Given the description of an element on the screen output the (x, y) to click on. 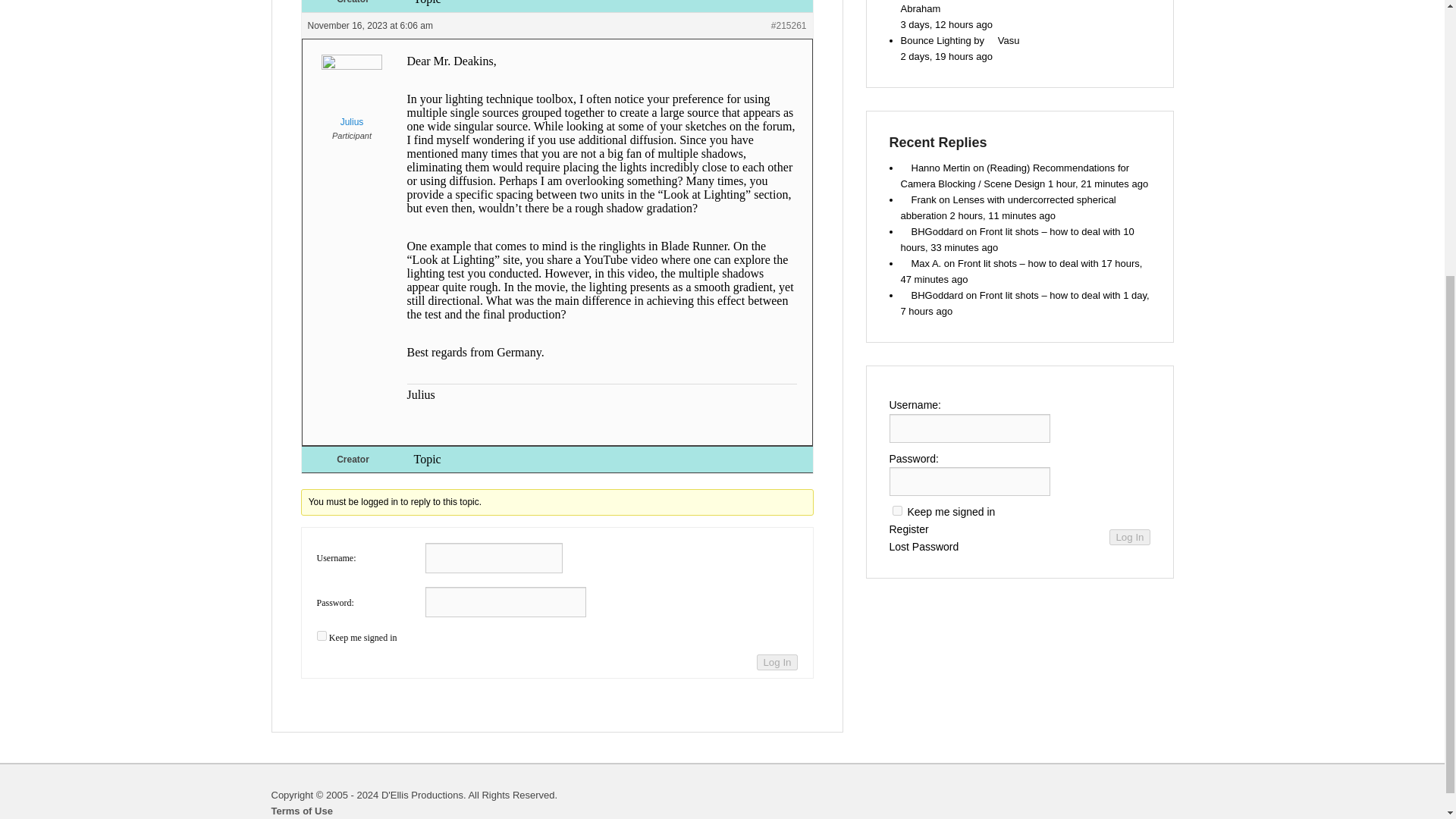
View Julius's profile (350, 94)
forever (321, 635)
View Frank's profile (918, 199)
View Abraham's profile (1008, 7)
View Hanno Mertin's profile (936, 167)
View Vasu's profile (1003, 40)
View BHGoddard's profile (932, 231)
forever (896, 510)
